Given the description of an element on the screen output the (x, y) to click on. 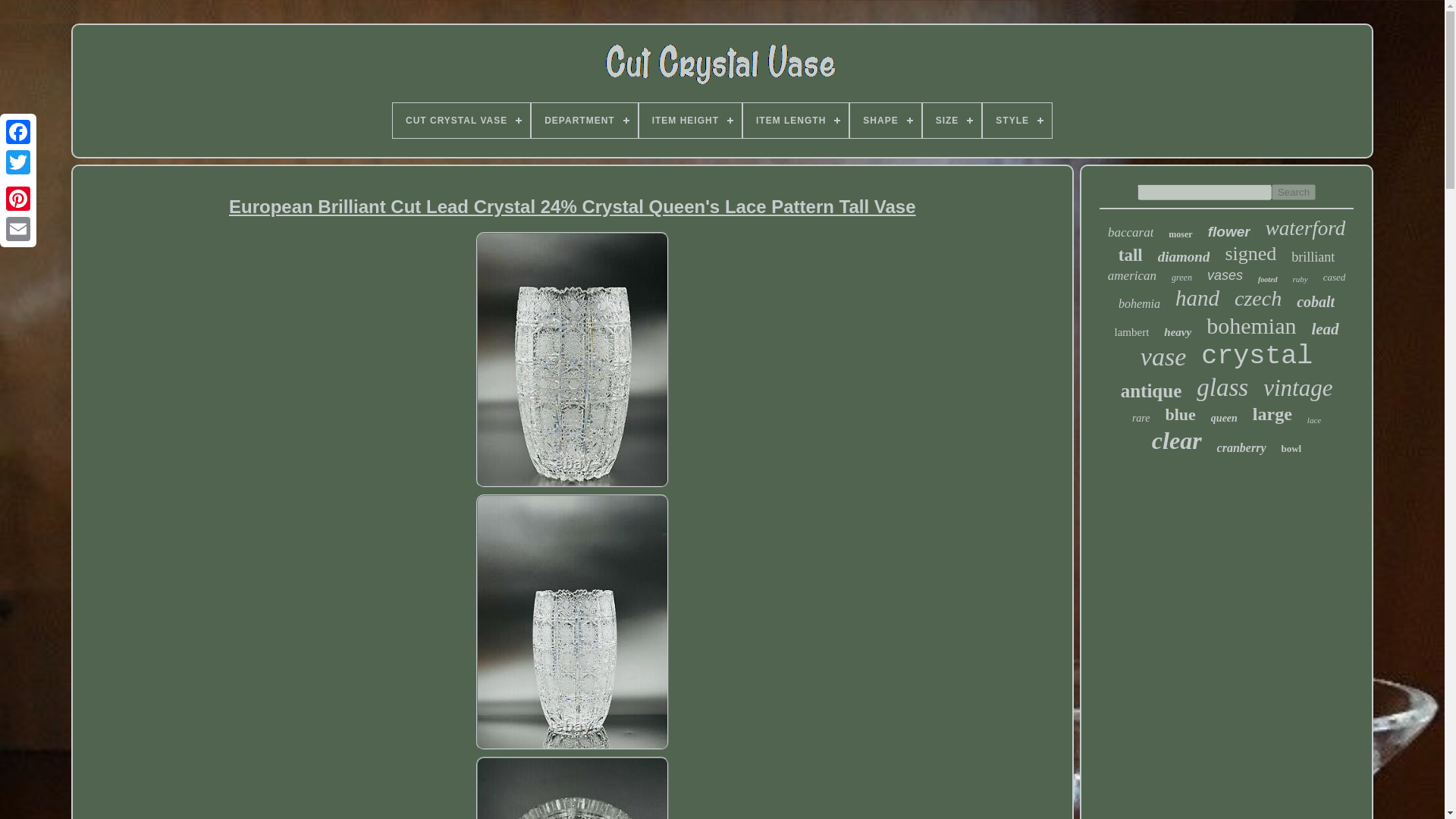
DEPARTMENT (584, 120)
Search (1293, 191)
CUT CRYSTAL VASE (461, 120)
ITEM HEIGHT (690, 120)
ITEM LENGTH (795, 120)
